Given the description of an element on the screen output the (x, y) to click on. 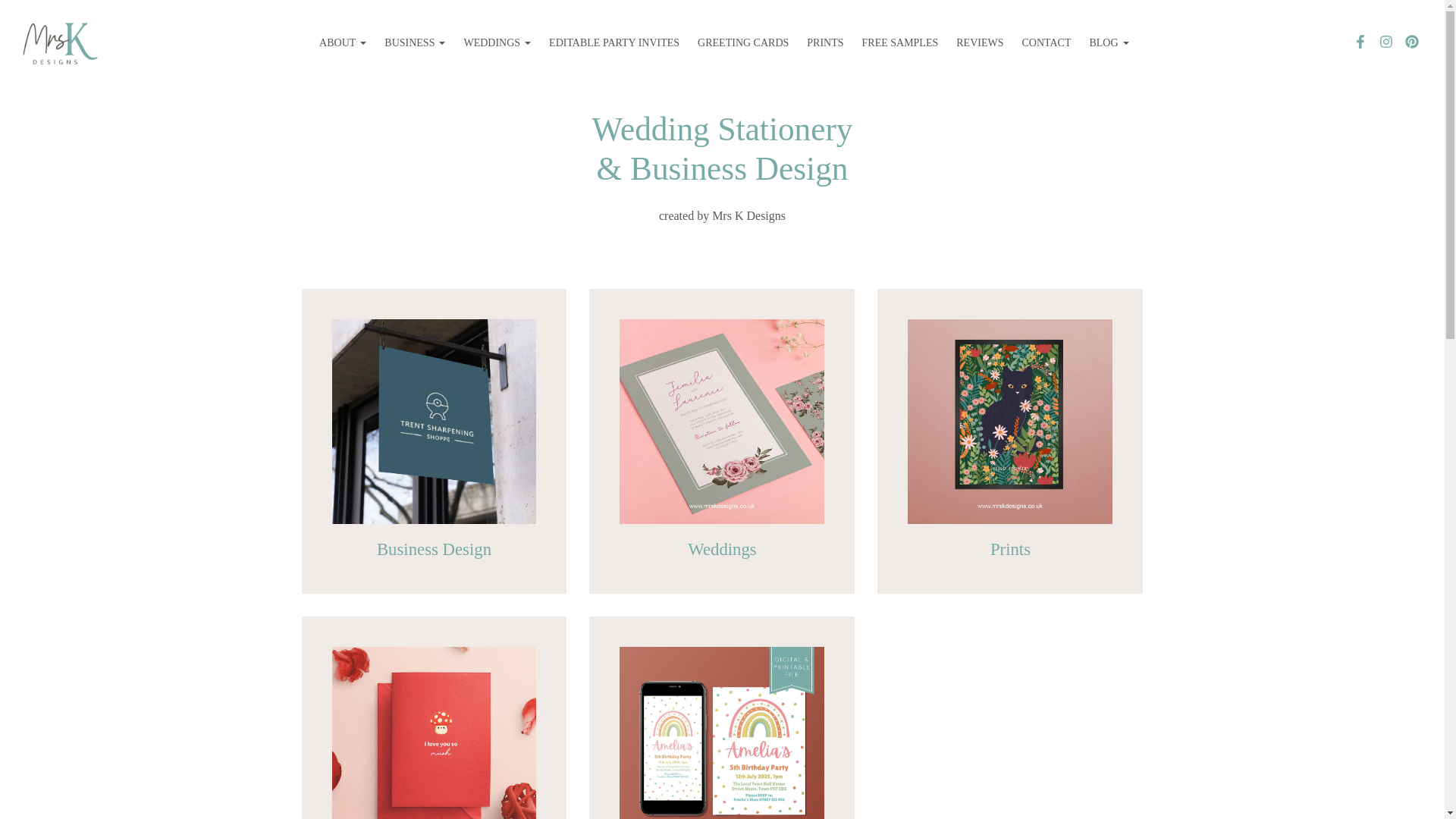
ABOUT (342, 42)
REVIEWS (979, 42)
BUSINESS (414, 42)
instagram (1385, 43)
facebook (1360, 43)
BLOG (1108, 42)
GREETING CARDS (742, 42)
pinterest (1412, 43)
PRINTS (824, 42)
EDITABLE PARTY INVITES (614, 42)
WEDDINGS (497, 42)
FREE SAMPLES (900, 42)
CONTACT (1045, 42)
